Given the description of an element on the screen output the (x, y) to click on. 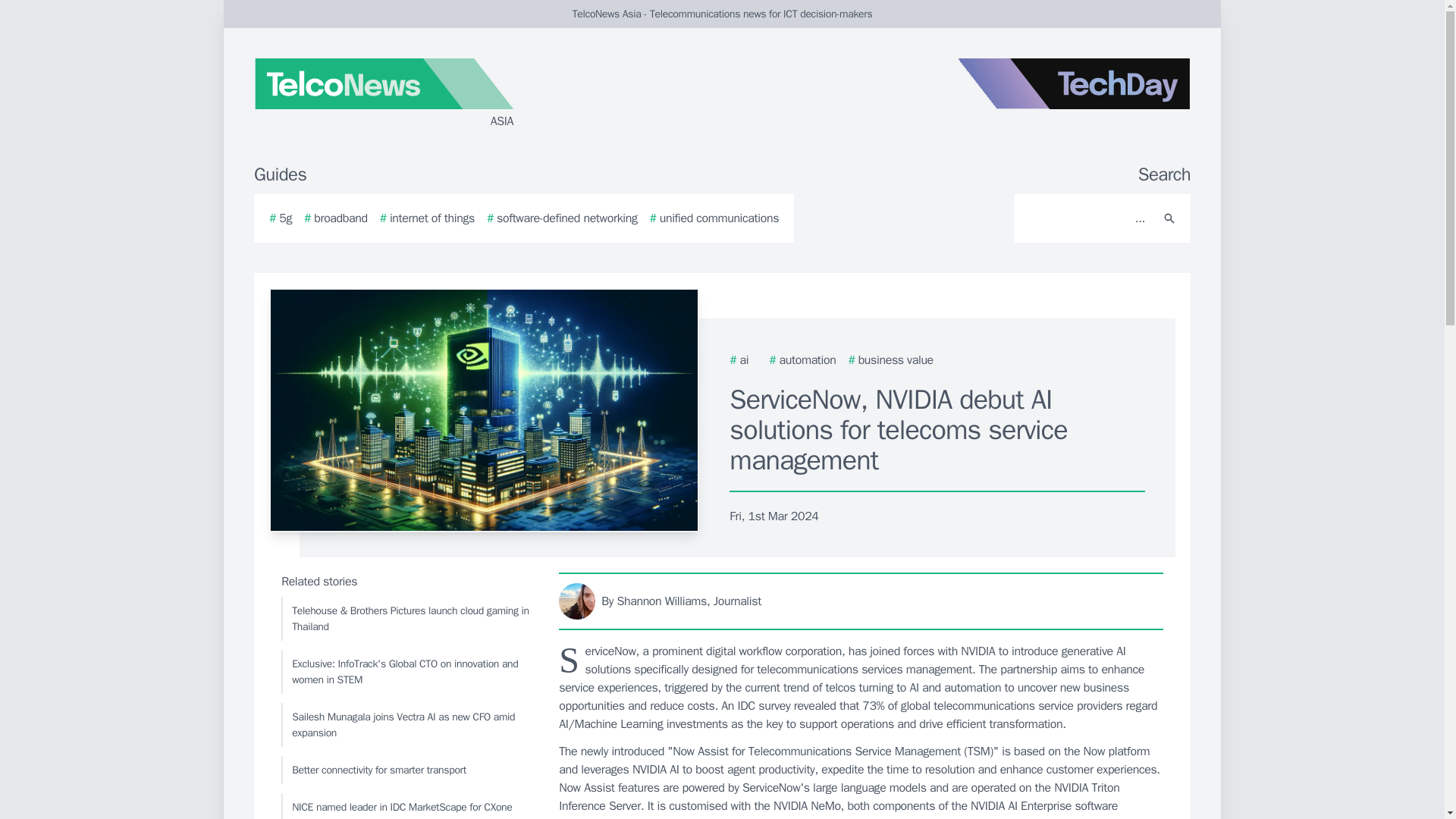
Sailesh Munagala joins Vectra AI as new CFO amid expansion (406, 724)
Better connectivity for smarter transport (406, 769)
NICE named leader in IDC MarketScape for CXone Mpower launch (406, 806)
By Shannon Williams, Journalist (861, 601)
ASIA (435, 94)
